Given the description of an element on the screen output the (x, y) to click on. 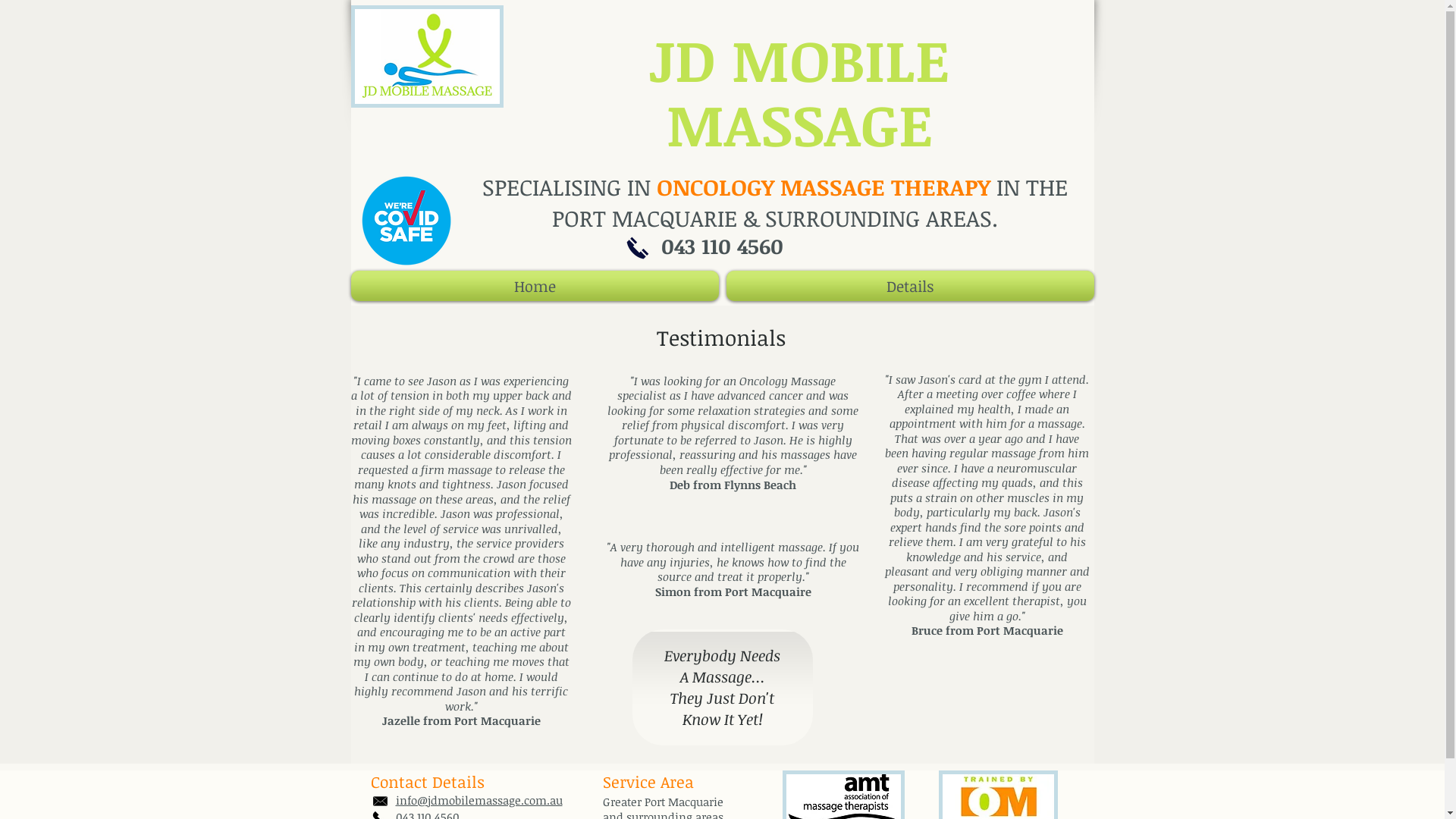
JD Mobile Massage Element type: hover (426, 56)
info@jdmobilemassage.com.au Element type: text (478, 799)
Home Element type: text (535, 285)
